Given the description of an element on the screen output the (x, y) to click on. 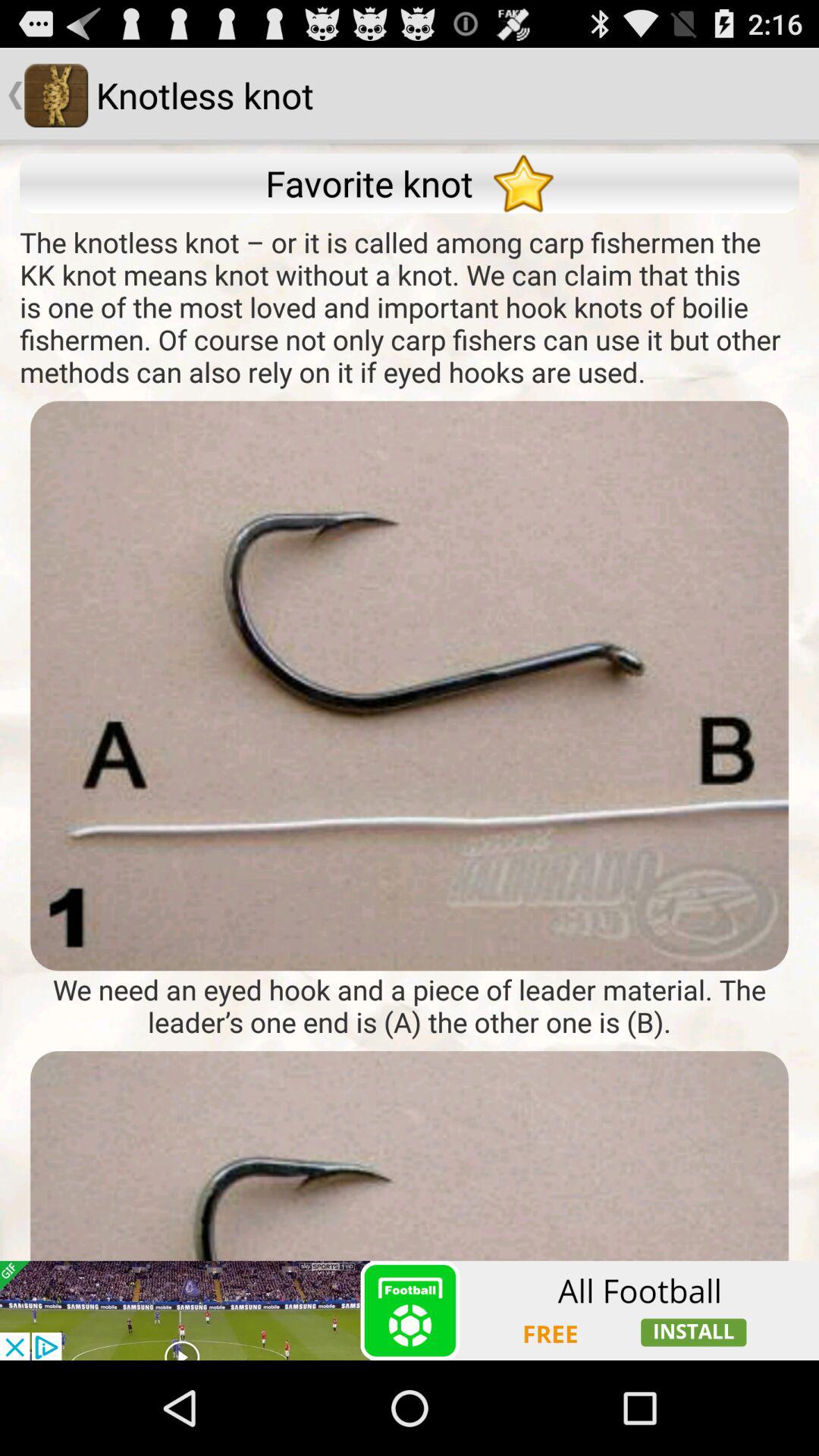
advertisement page (409, 1205)
